Given the description of an element on the screen output the (x, y) to click on. 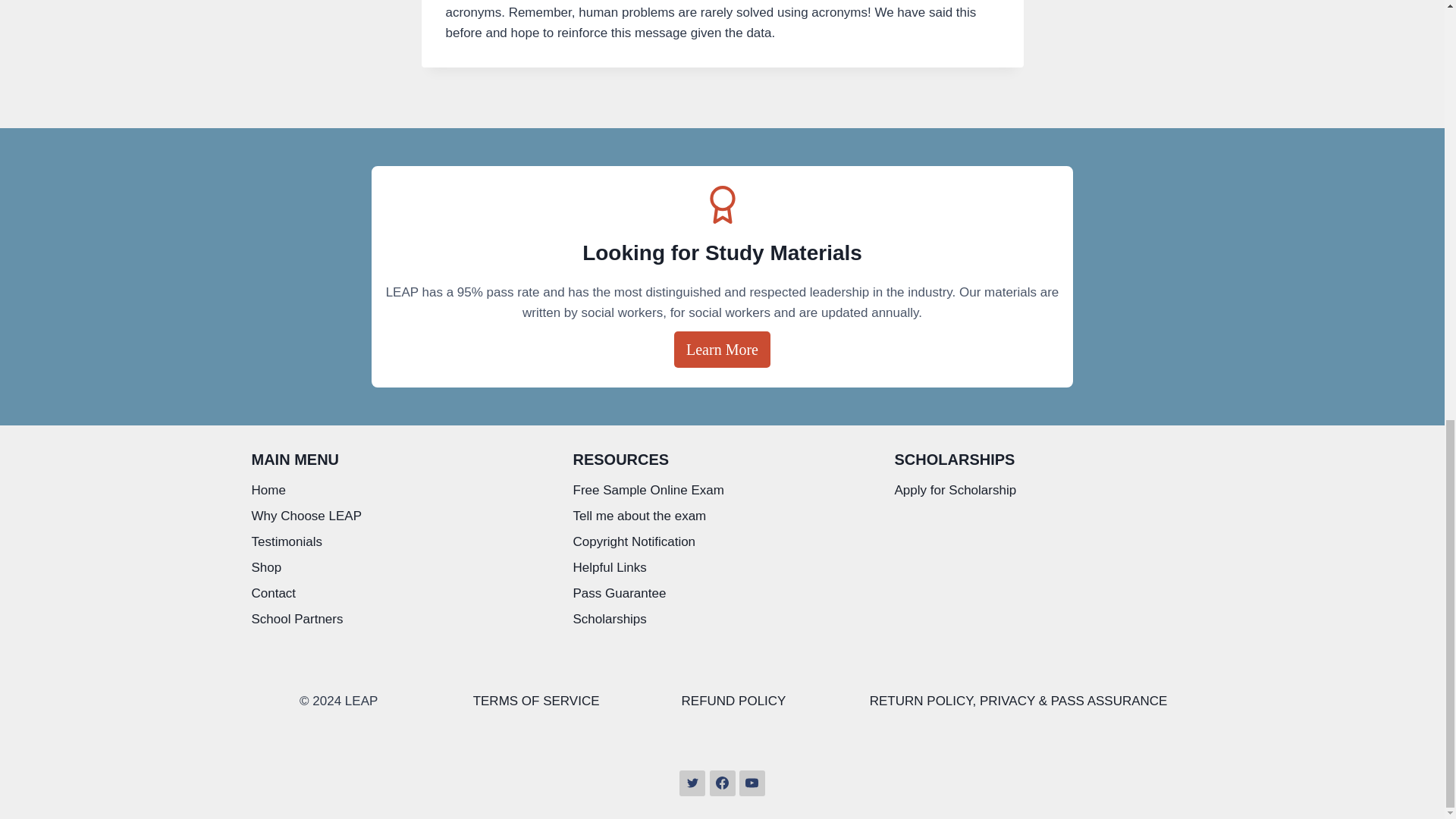
TERMS OF SERVICE (536, 700)
Scholarships (722, 619)
Contact (400, 593)
Home (400, 491)
Tell me about the exam (722, 516)
Shop (400, 568)
Testimonials (400, 542)
Copyright Notification (722, 542)
Helpful Links (722, 568)
Free Sample Online Exam (722, 491)
